Given the description of an element on the screen output the (x, y) to click on. 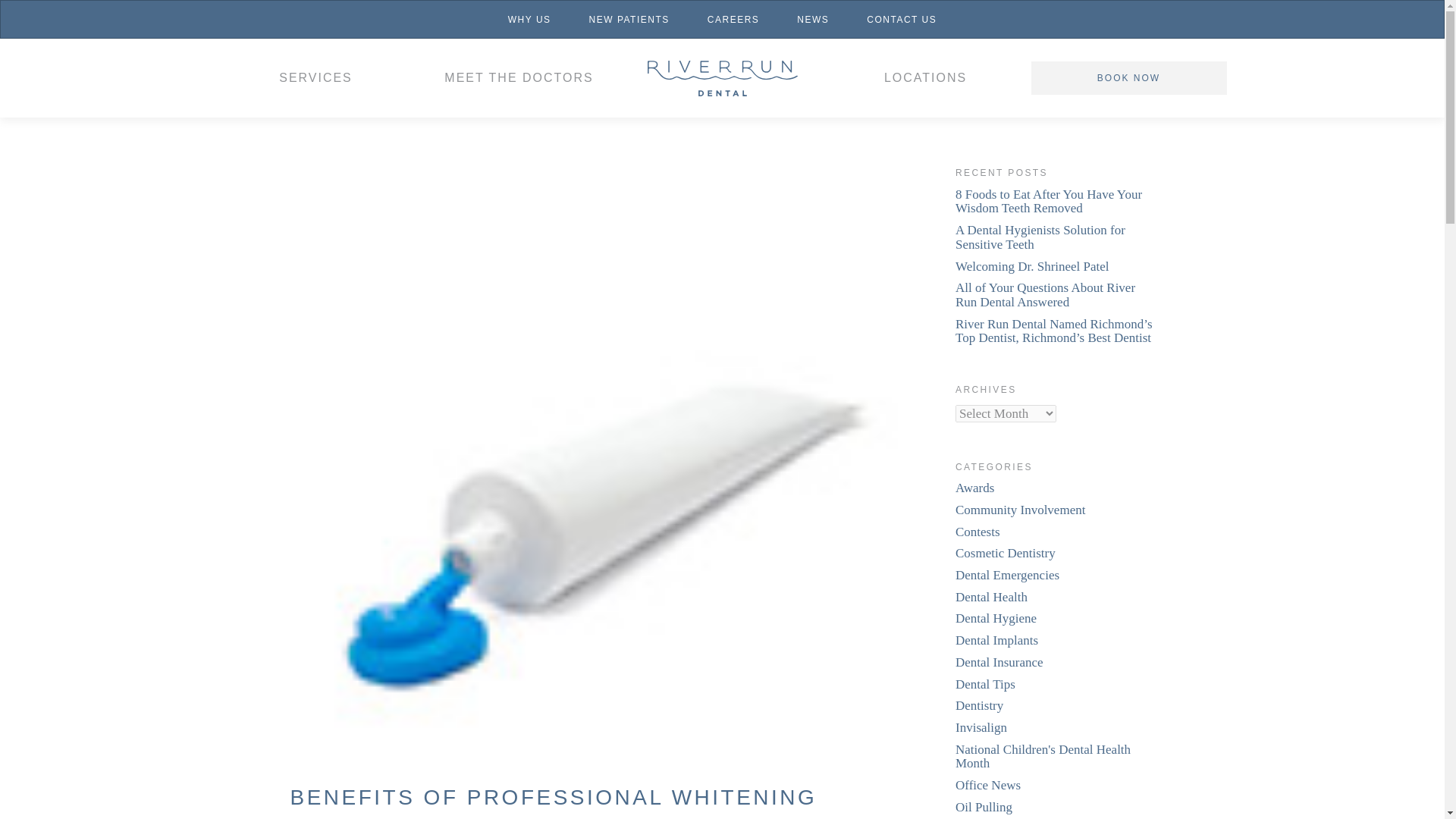
BOOK NOW (1128, 78)
SERVICES (315, 77)
NEW PATIENTS (629, 18)
LOCATIONS (925, 77)
WHY US (529, 18)
MEET THE DOCTORS (519, 77)
RIVER RUN DENTAL (722, 77)
NEWS (812, 18)
CAREERS (733, 18)
CONTACT US (901, 18)
